Given the description of an element on the screen output the (x, y) to click on. 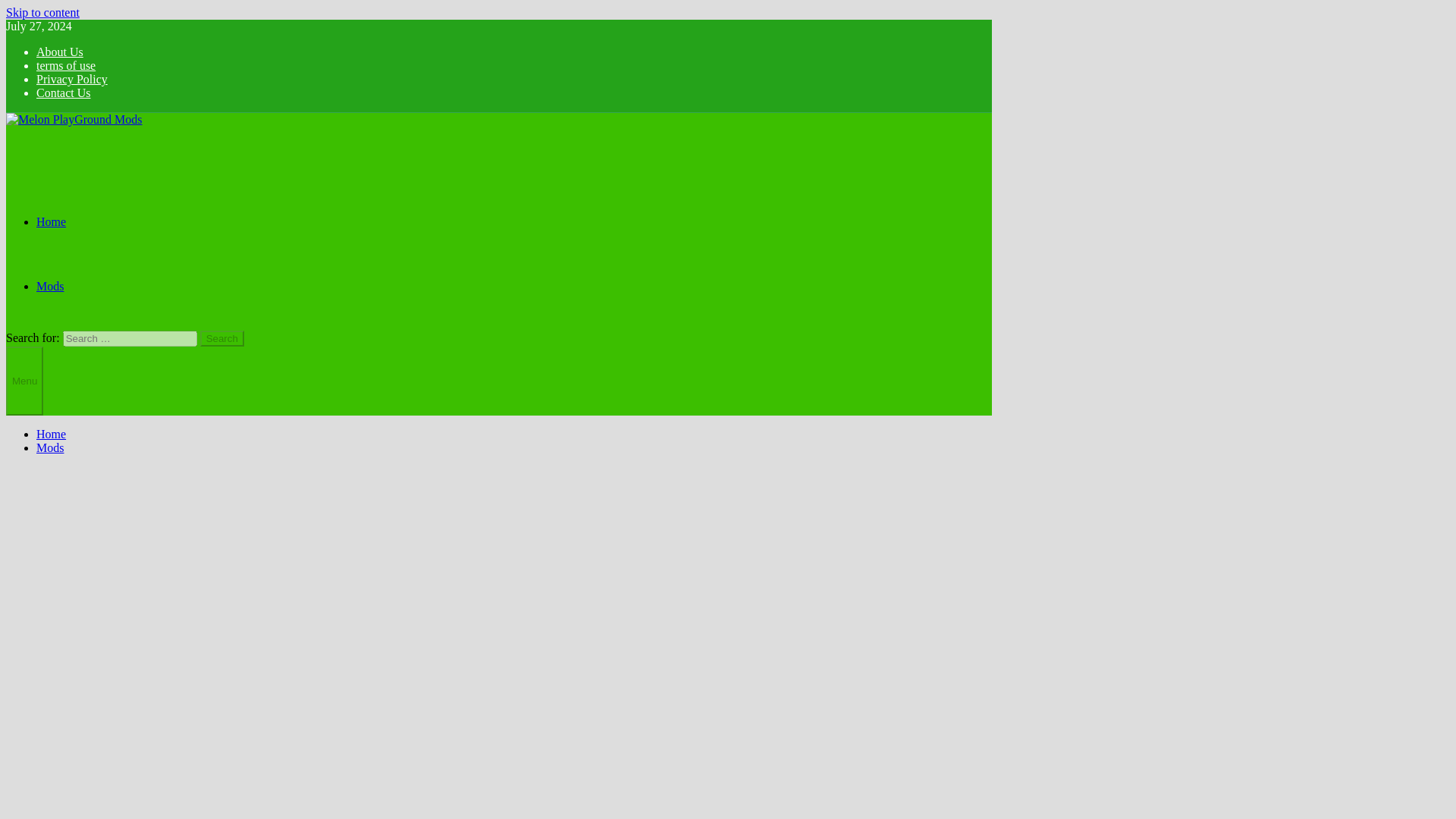
Search (222, 338)
About Us (59, 51)
Home (50, 221)
Mods (50, 286)
Contact Us (63, 92)
Menu (24, 380)
Home (50, 433)
Search (222, 338)
Search (222, 338)
Skip to content (42, 11)
Privacy Policy (71, 78)
terms of use (66, 65)
